Given the description of an element on the screen output the (x, y) to click on. 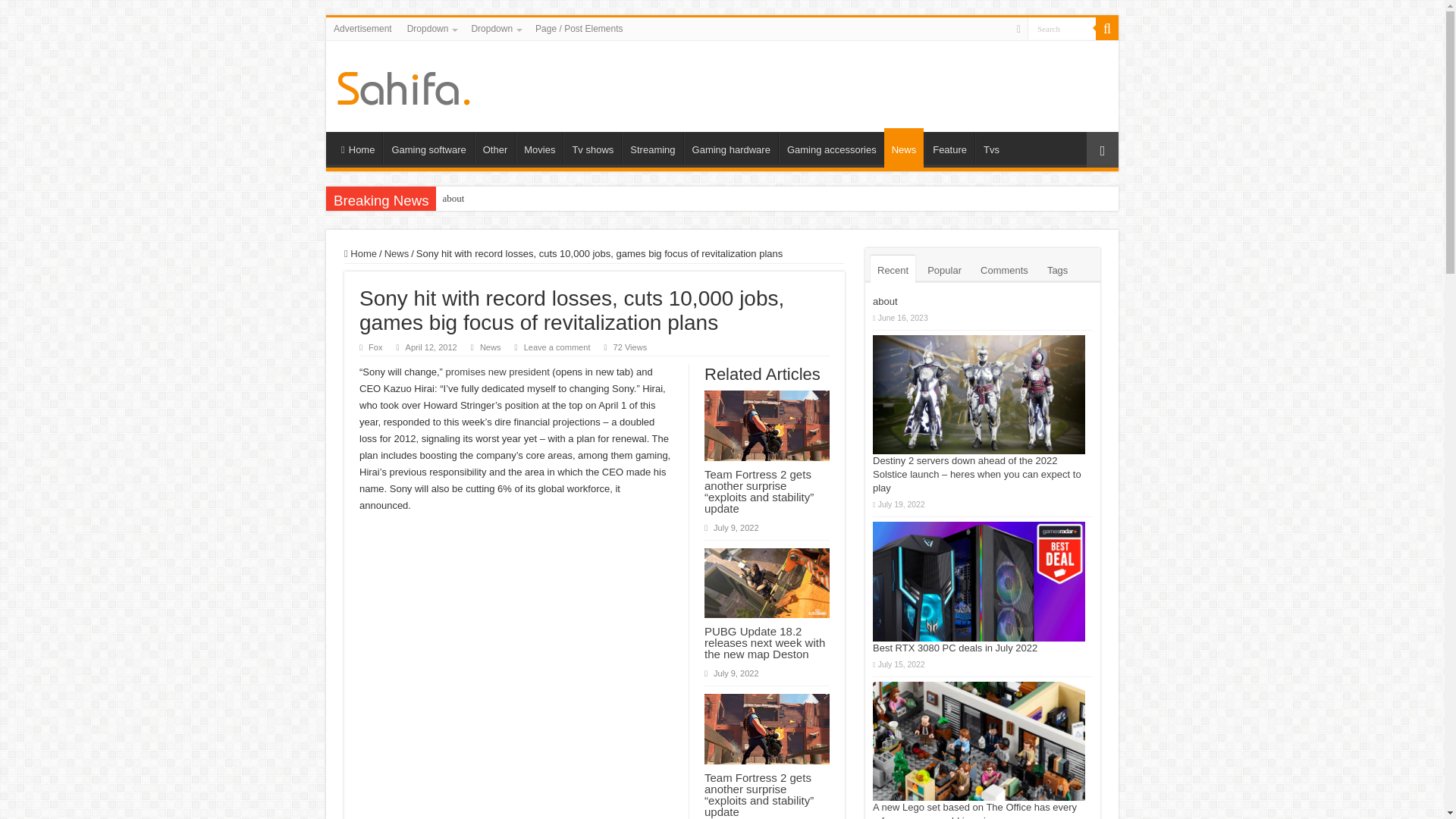
Streaming (651, 147)
Dropdown (495, 28)
Dropdown (431, 28)
Gaming software (427, 147)
Search (1061, 28)
News (903, 147)
Gaming hardware (730, 147)
Advertisement (362, 28)
Movies (538, 147)
Search (1107, 28)
about (452, 198)
Search (1061, 28)
Gaming accessories (830, 147)
Search (1061, 28)
Game News (403, 85)
